Given the description of an element on the screen output the (x, y) to click on. 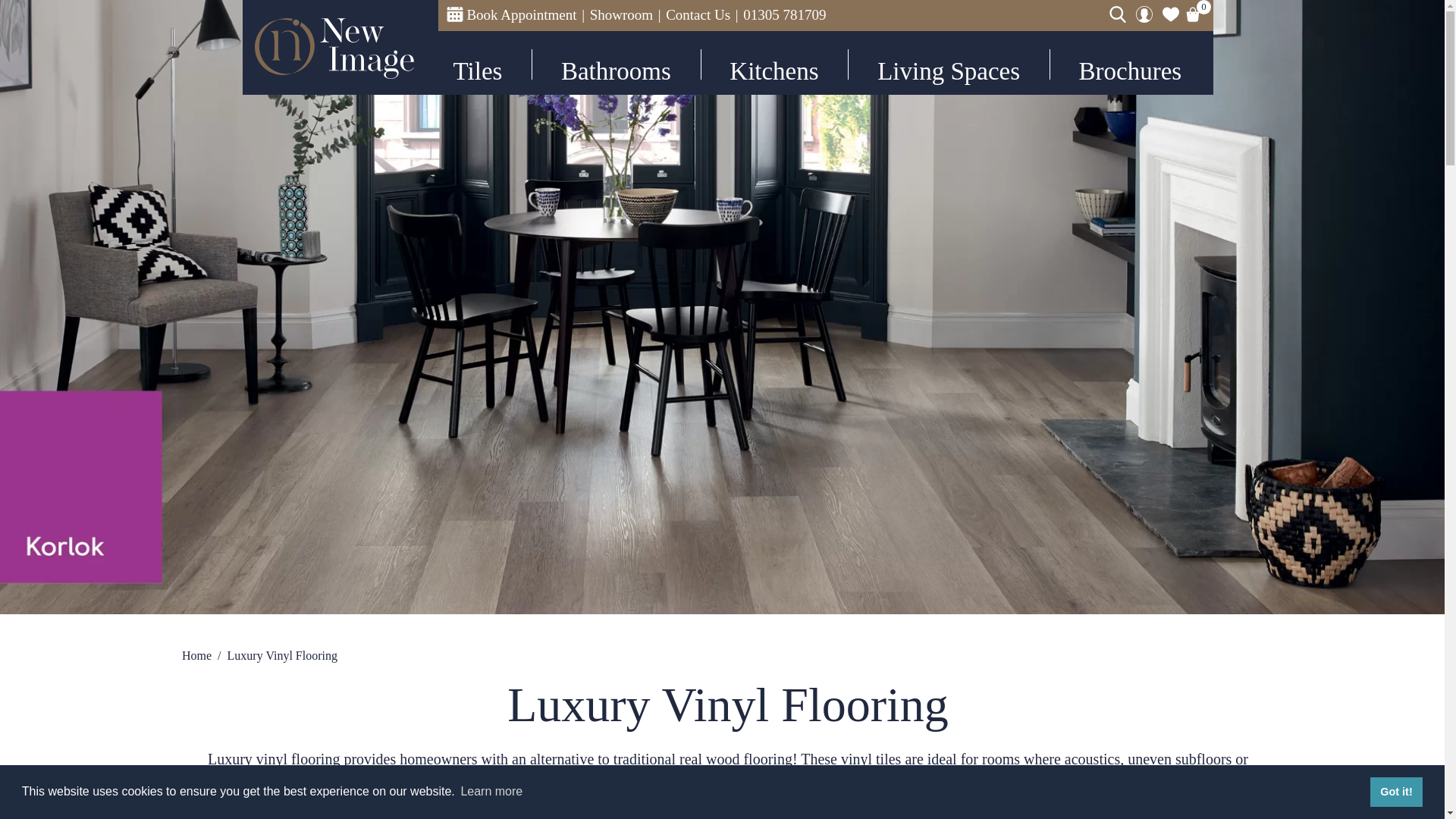
Book Appointment (511, 14)
Learn more (491, 791)
Showroom (620, 15)
Tiles (484, 63)
Got it! (1396, 791)
01305 781709 (783, 15)
Contact Us (697, 15)
